Given the description of an element on the screen output the (x, y) to click on. 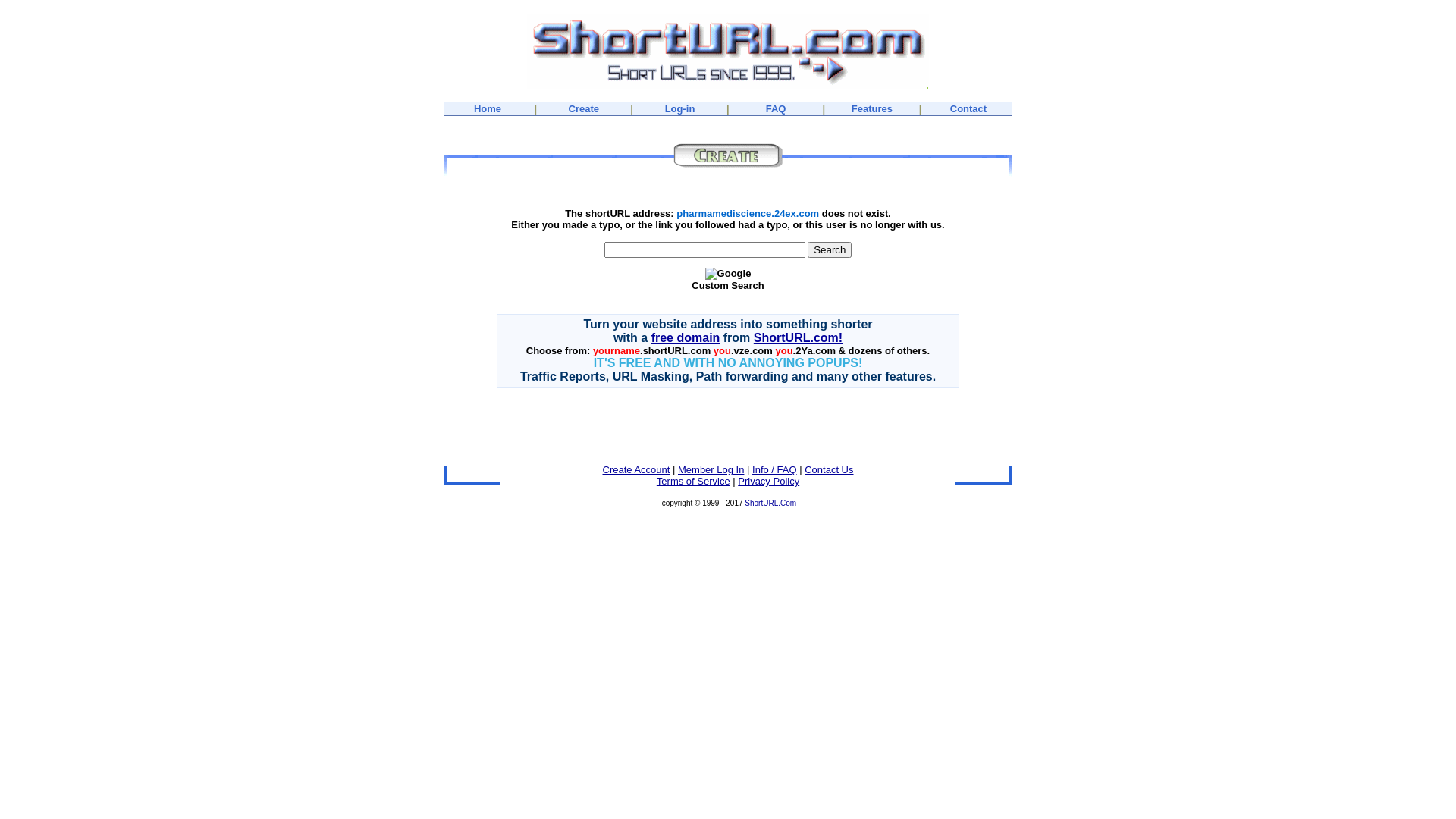
Contact Us Element type: text (828, 469)
ShortURL.com! Element type: text (797, 337)
free domain Element type: text (685, 337)
Privacy Policy Element type: text (768, 480)
Info / FAQ Element type: text (774, 469)
Create Element type: text (583, 108)
ShortURL.Com Element type: text (770, 502)
Home Element type: text (487, 108)
Log-in Element type: text (680, 108)
Terms of Service Element type: text (693, 480)
Member Log In Element type: text (710, 469)
Features Element type: text (871, 108)
Search Element type: text (829, 249)
Create Account Element type: text (635, 469)
FAQ Element type: text (775, 108)
Contact Element type: text (968, 108)
